Given the description of an element on the screen output the (x, y) to click on. 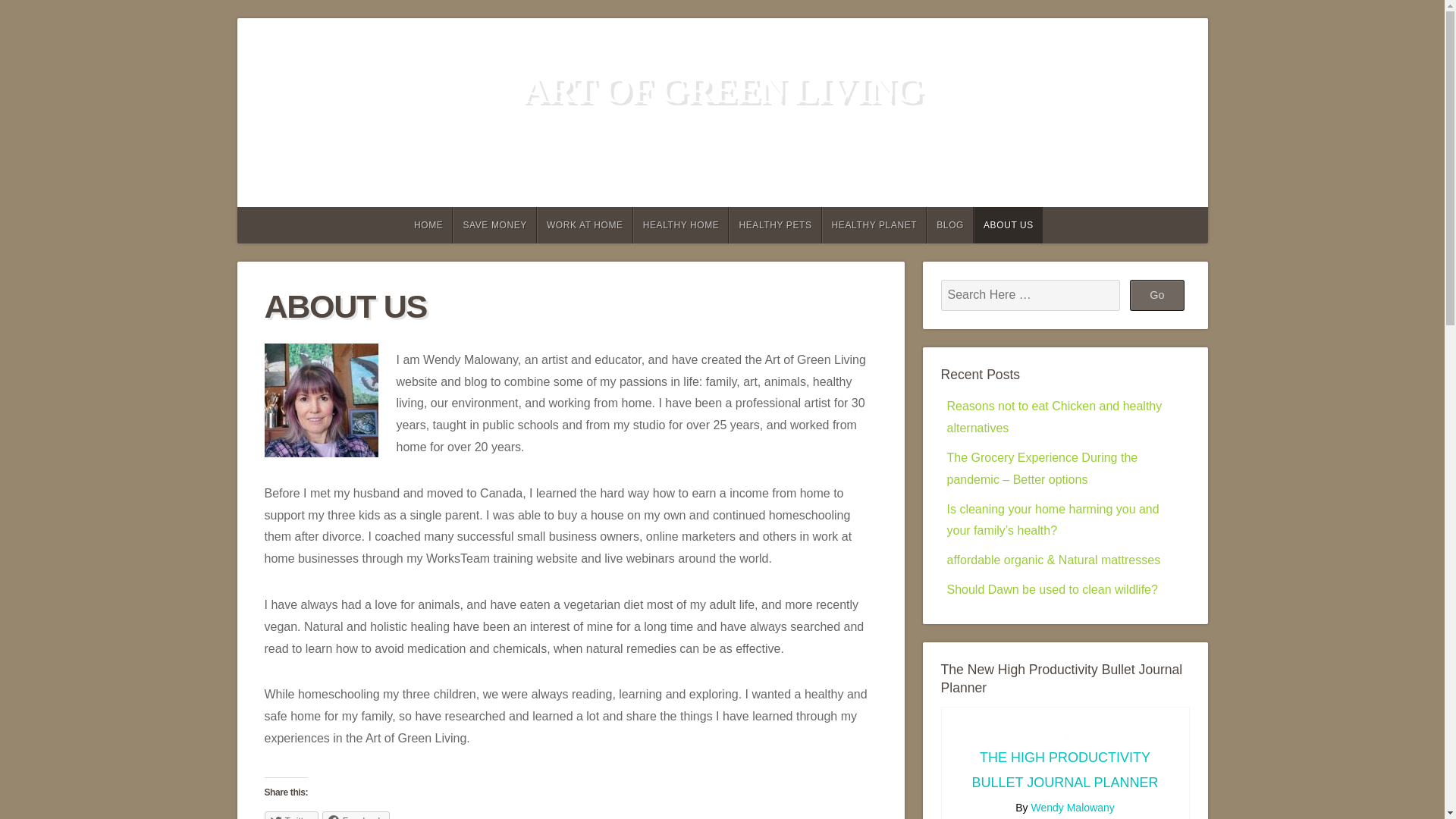
Click to share on Facebook (355, 815)
Twitter (290, 815)
HEALTHY PETS (775, 225)
HEALTHY HOME (681, 225)
Click to share on Twitter (290, 815)
Go (1157, 295)
Reasons not to eat Chicken and healthy alternatives (1053, 416)
Wendy Malowany (1071, 807)
HOME (426, 225)
ABOUT US (1008, 225)
THE HIGH PRODUCTIVITY BULLET JOURNAL PLANNER (1064, 769)
BLOG (950, 225)
Facebook (355, 815)
ART OF GREEN LIVING (721, 89)
WORK AT HOME (585, 225)
